Given the description of an element on the screen output the (x, y) to click on. 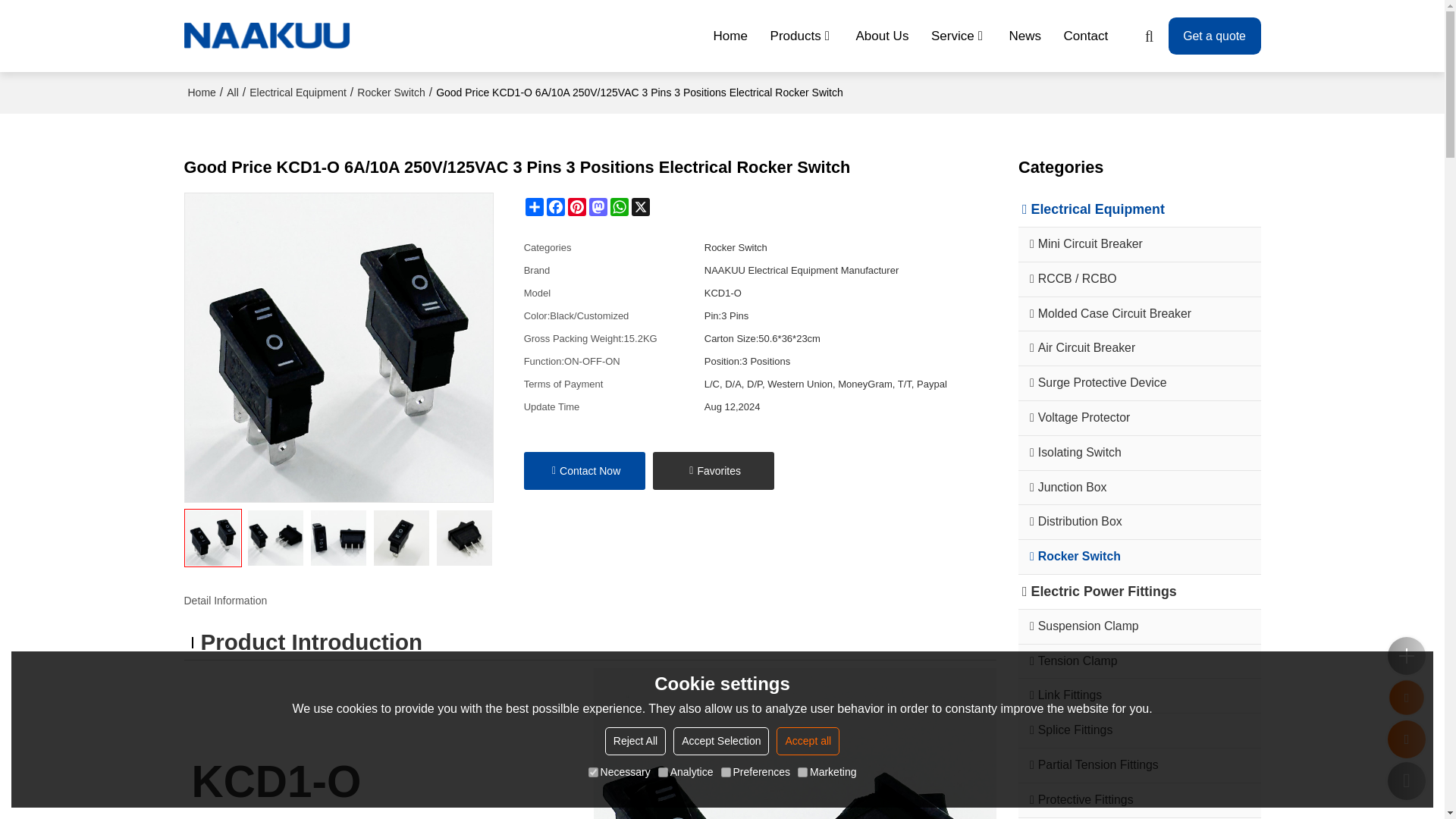
About Us (882, 36)
Naakuu Power Hitech Co., Ltd (266, 36)
on (725, 772)
on (802, 772)
Service (958, 36)
on (593, 772)
Products (801, 36)
on (663, 772)
Get a quote (1214, 36)
Products (801, 36)
